Given the description of an element on the screen output the (x, y) to click on. 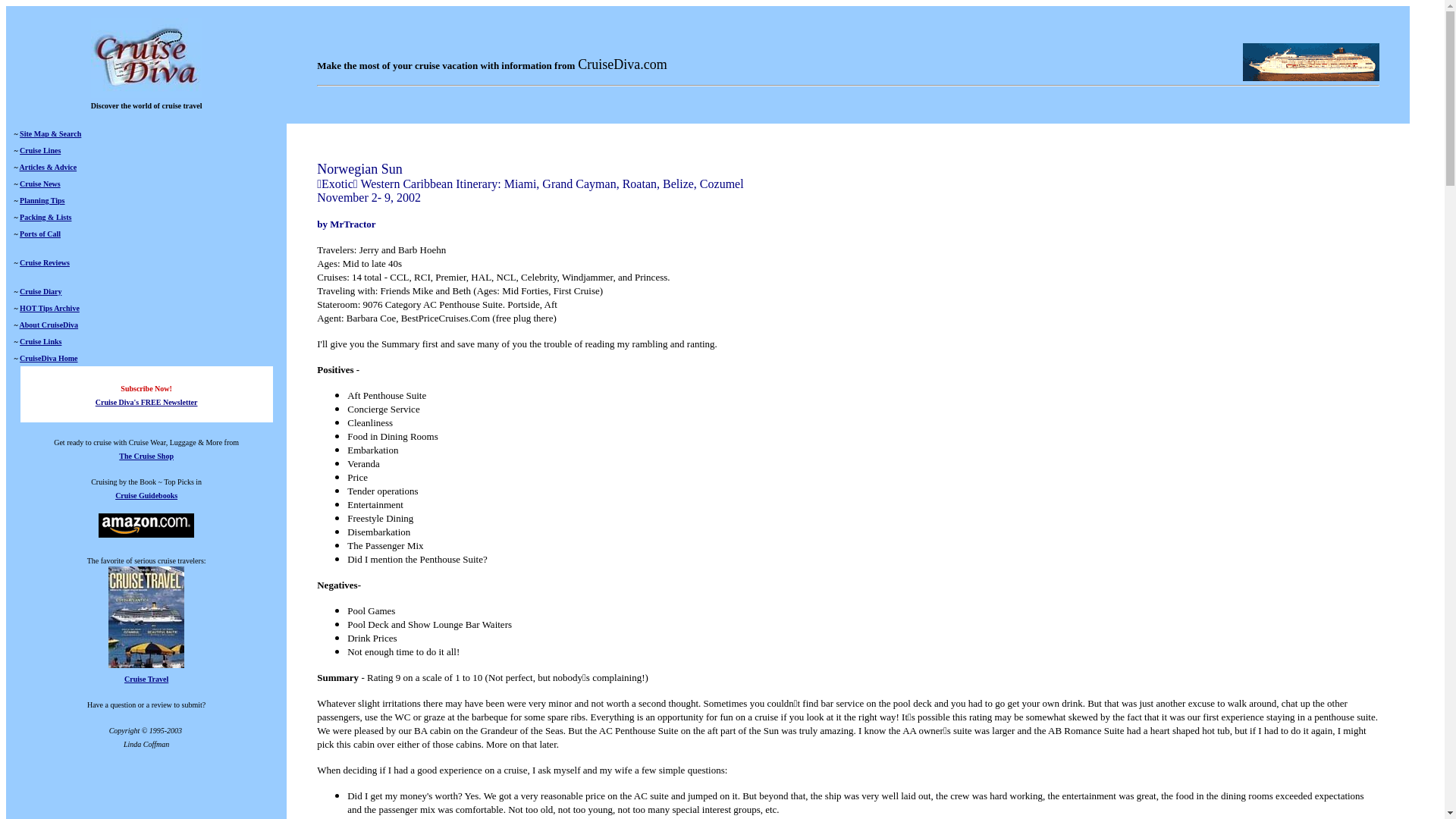
The Cruise Shop (146, 454)
Cruise Lines (40, 150)
Cruise Travel (145, 671)
CruiseDiva Home (48, 357)
About CruiseDiva (49, 325)
Cruise News (40, 183)
Cruise Guidebooks (146, 495)
Cruise Links (40, 341)
Cruise Diva's FREE Newsletter (147, 409)
HOT Tips Archive (50, 307)
Cruise Diary (40, 291)
Ports of Call (40, 234)
Cruise Reviews (44, 262)
Planning Tips (42, 200)
